Given the description of an element on the screen output the (x, y) to click on. 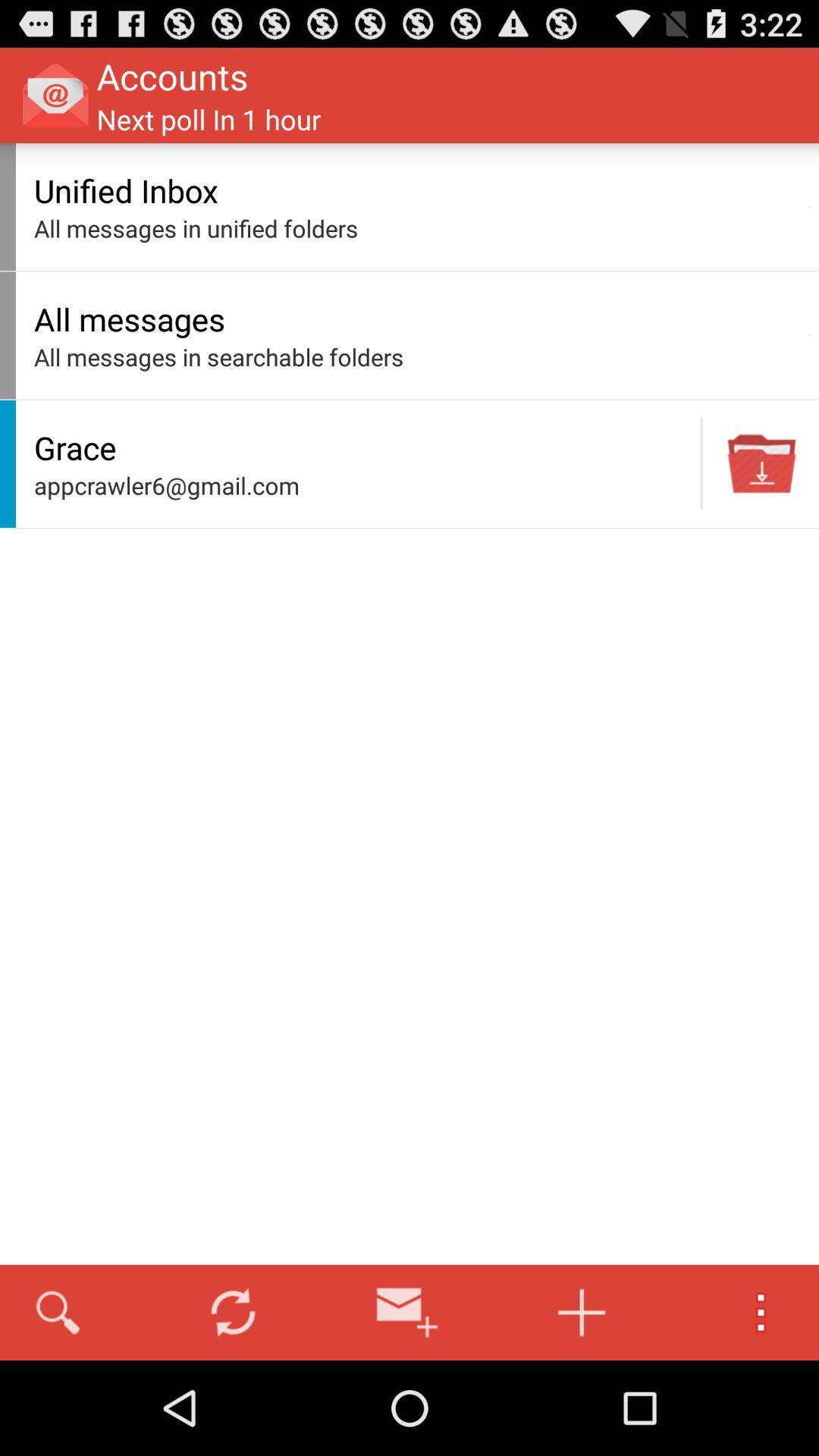
press the icon next to all messages app (809, 335)
